Given the description of an element on the screen output the (x, y) to click on. 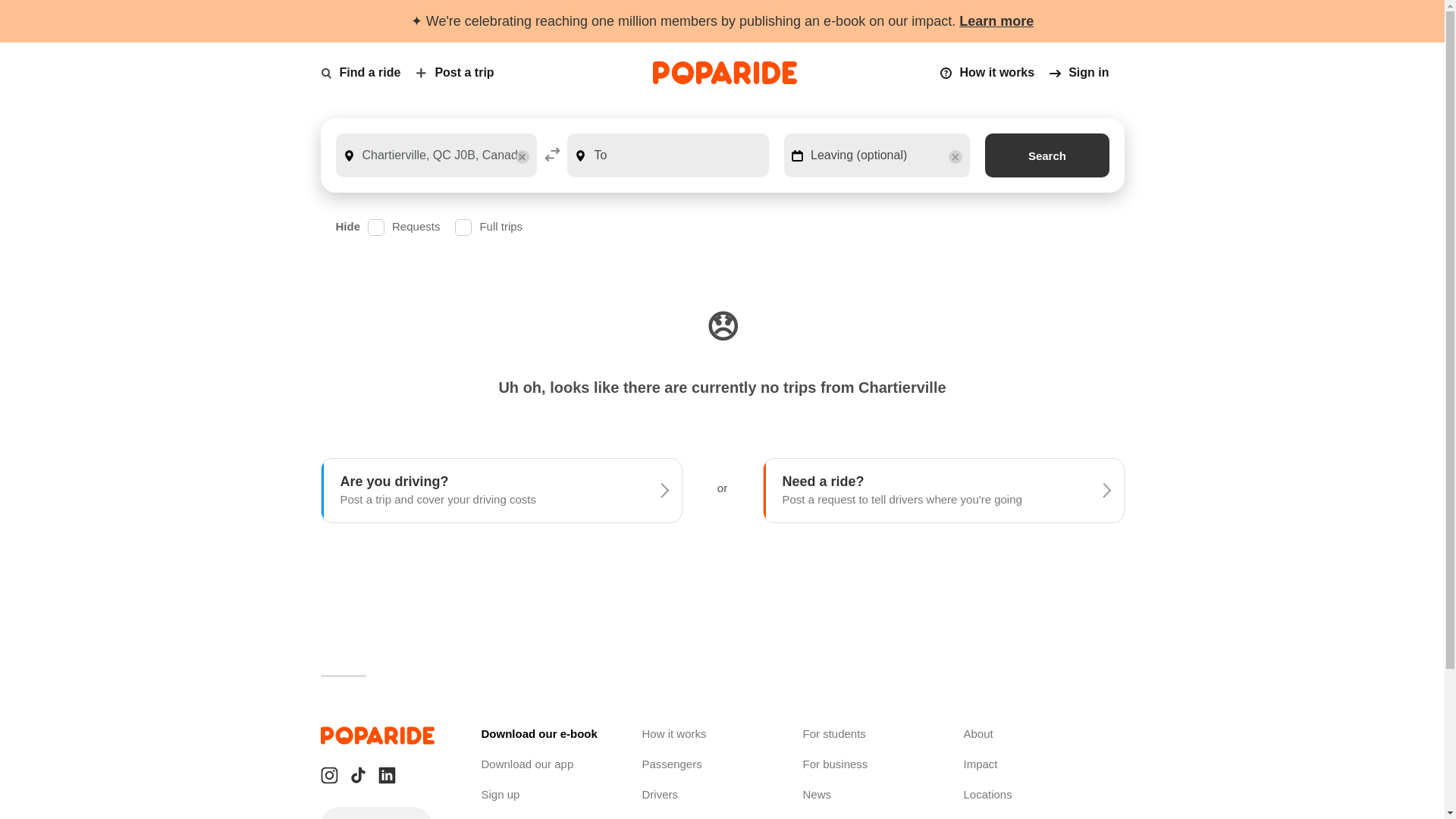
Download our app (526, 763)
Locations (986, 793)
Chartierville, QC J0B, Canada (434, 155)
How it works (674, 733)
Passengers (671, 763)
Learn more (996, 20)
Download our e-book (538, 733)
Search (1046, 155)
How it works (994, 72)
Sign up (499, 793)
News (816, 793)
Drivers (660, 793)
